Given the description of an element on the screen output the (x, y) to click on. 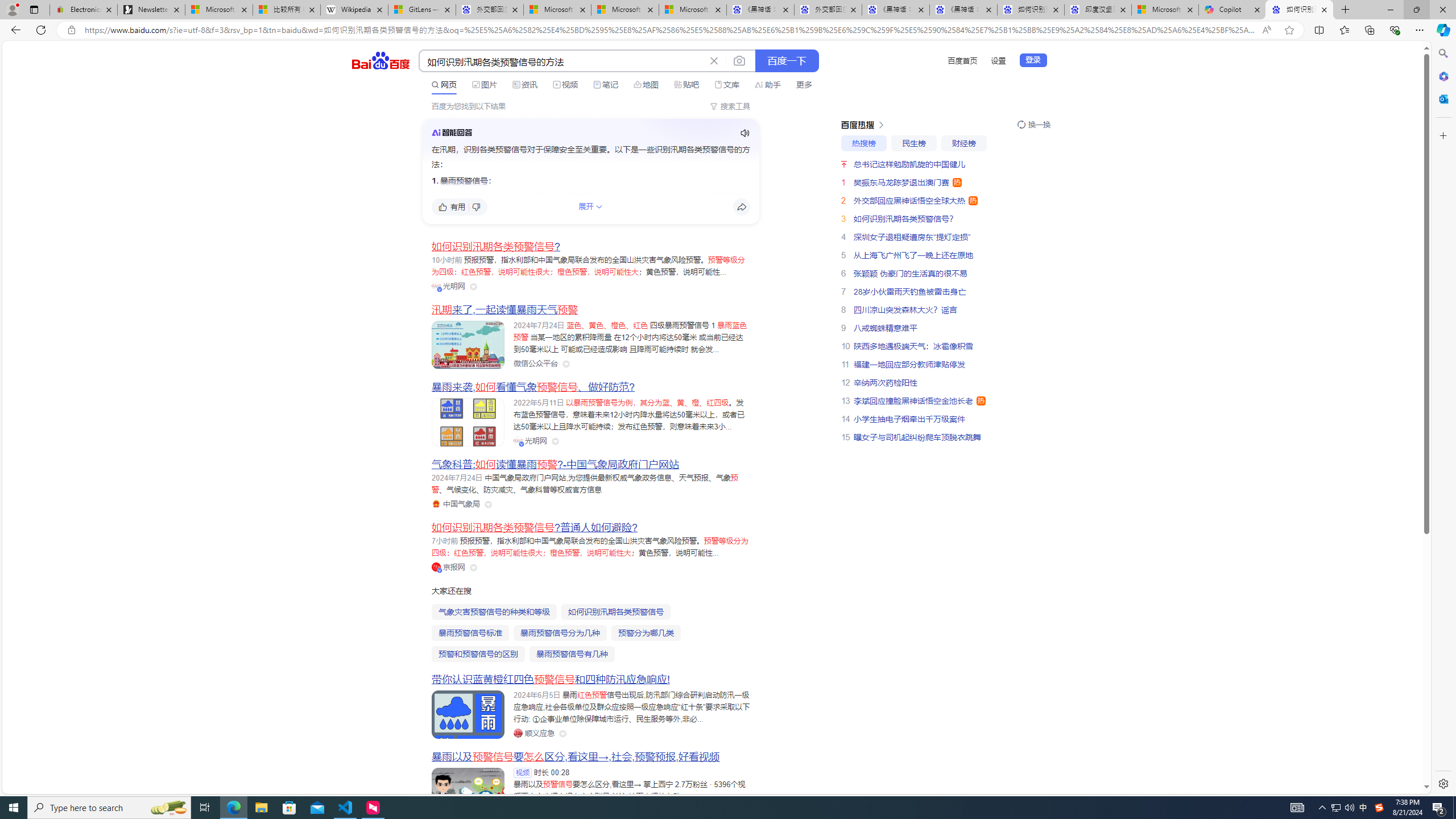
AutomationID: kw (562, 61)
